Given the description of an element on the screen output the (x, y) to click on. 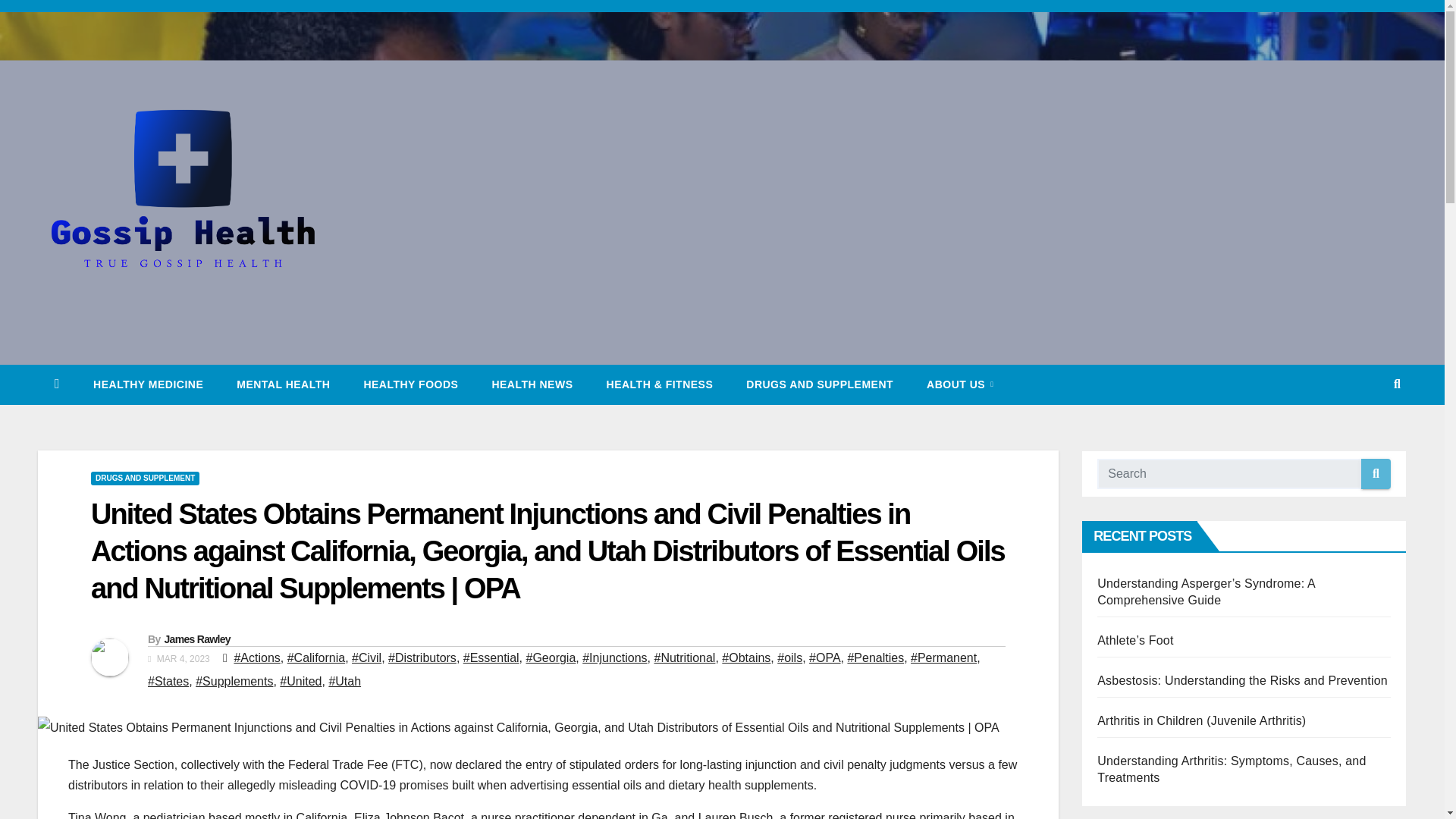
DRUGS AND SUPPLEMENT (819, 384)
Healthy Medicine (148, 384)
HEALTHY MEDICINE (148, 384)
Mental Health (282, 384)
James Rawley (196, 639)
Healthy Foods (410, 384)
MENTAL HEALTH (282, 384)
About Us (960, 384)
HEALTHY FOODS (410, 384)
HEALTH NEWS (531, 384)
